Given the description of an element on the screen output the (x, y) to click on. 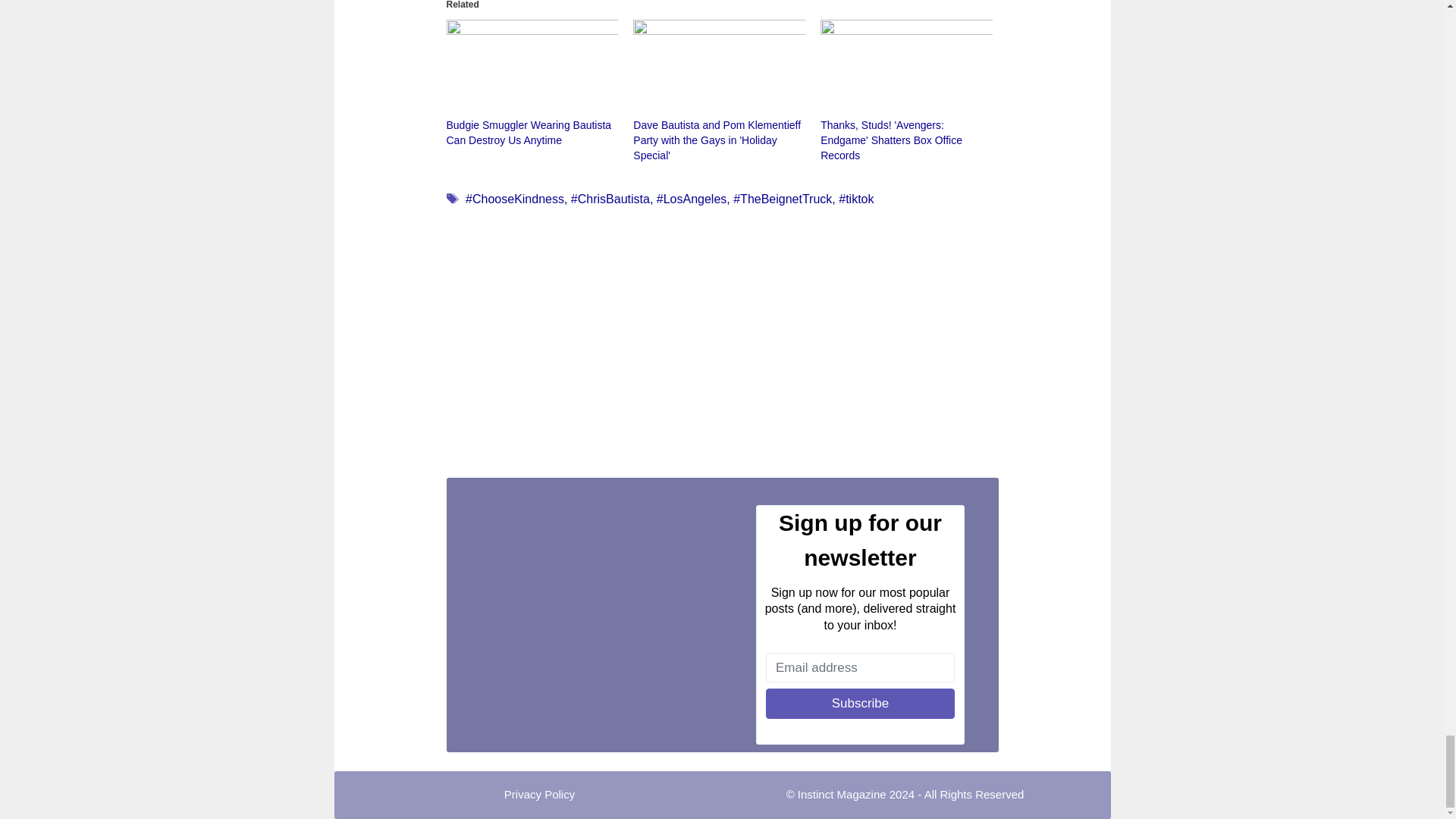
Subscribe (860, 703)
